Given the description of an element on the screen output the (x, y) to click on. 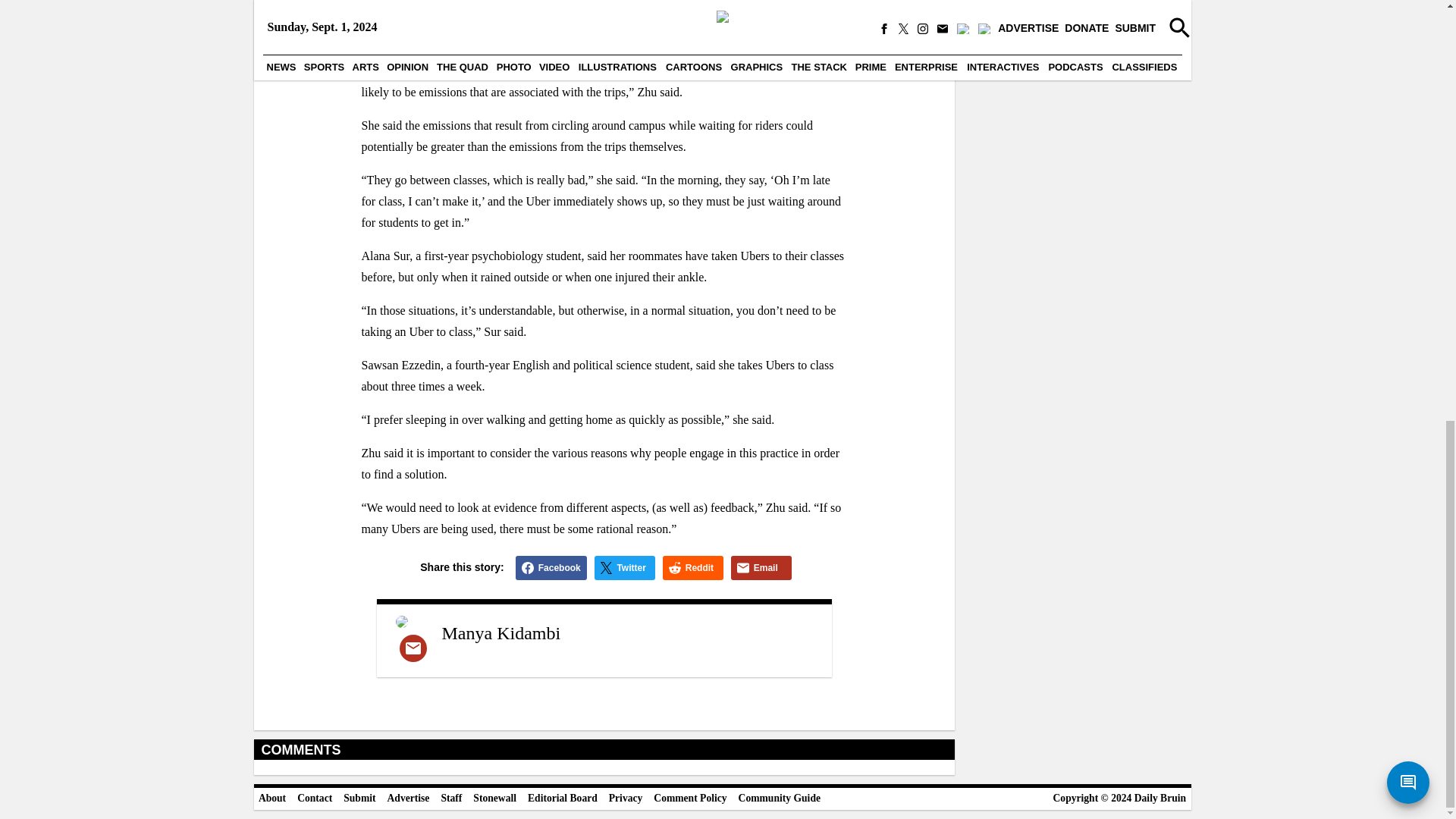
Email (761, 567)
Facebook (550, 567)
Twitter (624, 567)
Reddit (692, 567)
Manya Kidambi (500, 632)
